Given the description of an element on the screen output the (x, y) to click on. 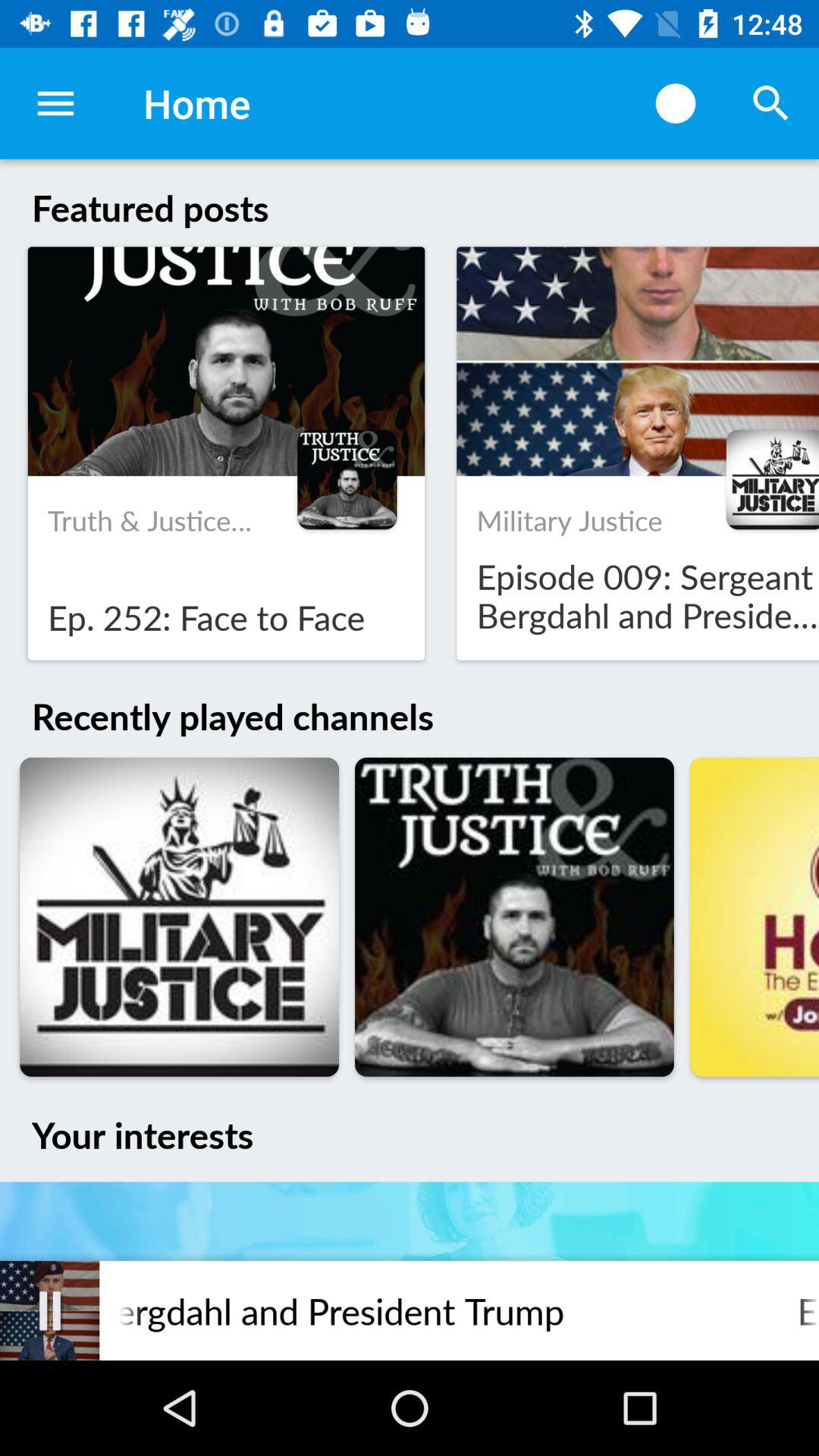
turn on the item next to the home (55, 103)
